Given the description of an element on the screen output the (x, y) to click on. 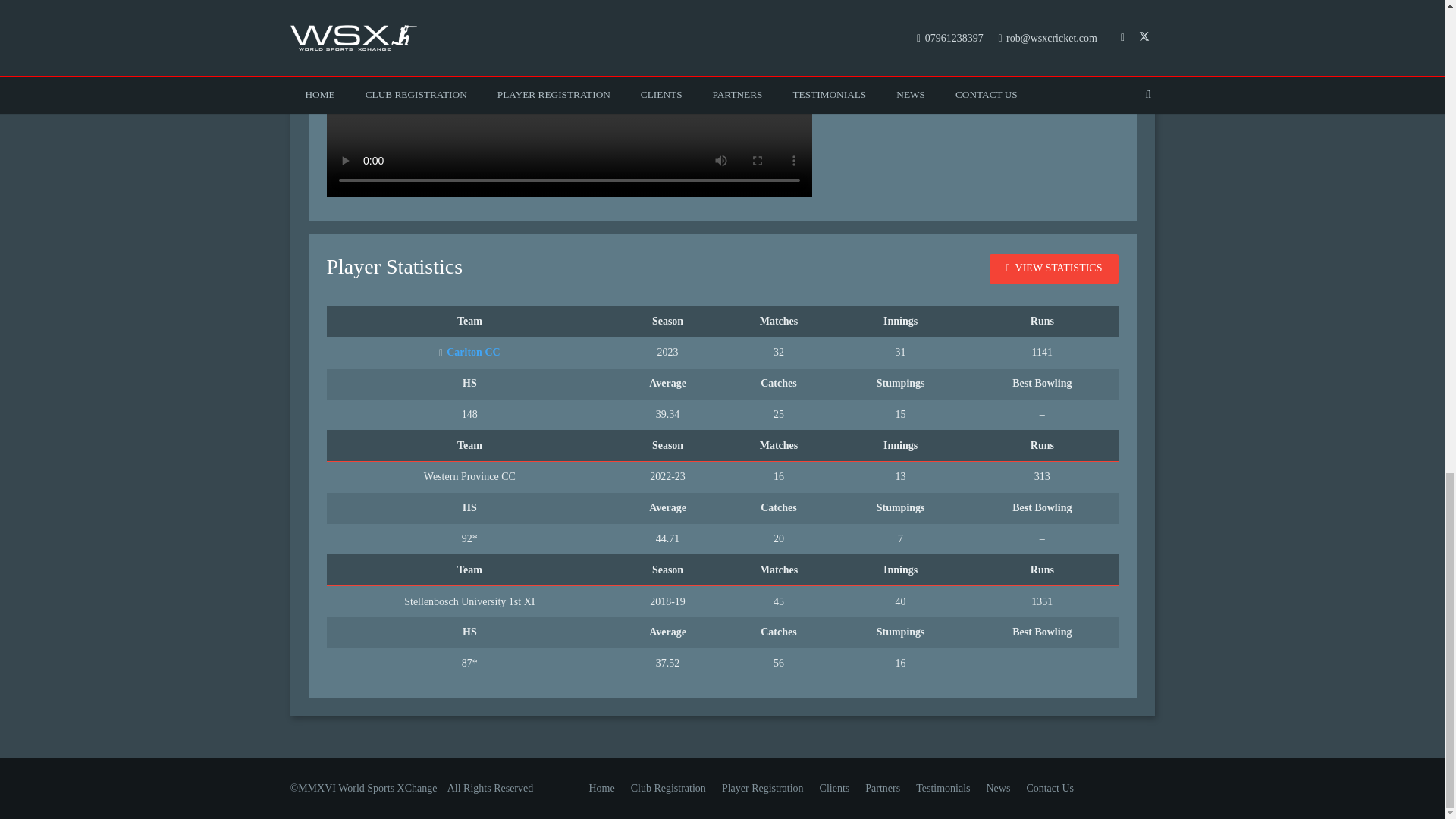
VIEW STATISTICS (1054, 268)
Testimonials (942, 787)
Contact Us (1050, 787)
News (997, 787)
Carlton CC (469, 351)
Clients (834, 787)
Club Registration (668, 787)
Home (601, 787)
Partners (881, 787)
Player Registration (762, 787)
